Given the description of an element on the screen output the (x, y) to click on. 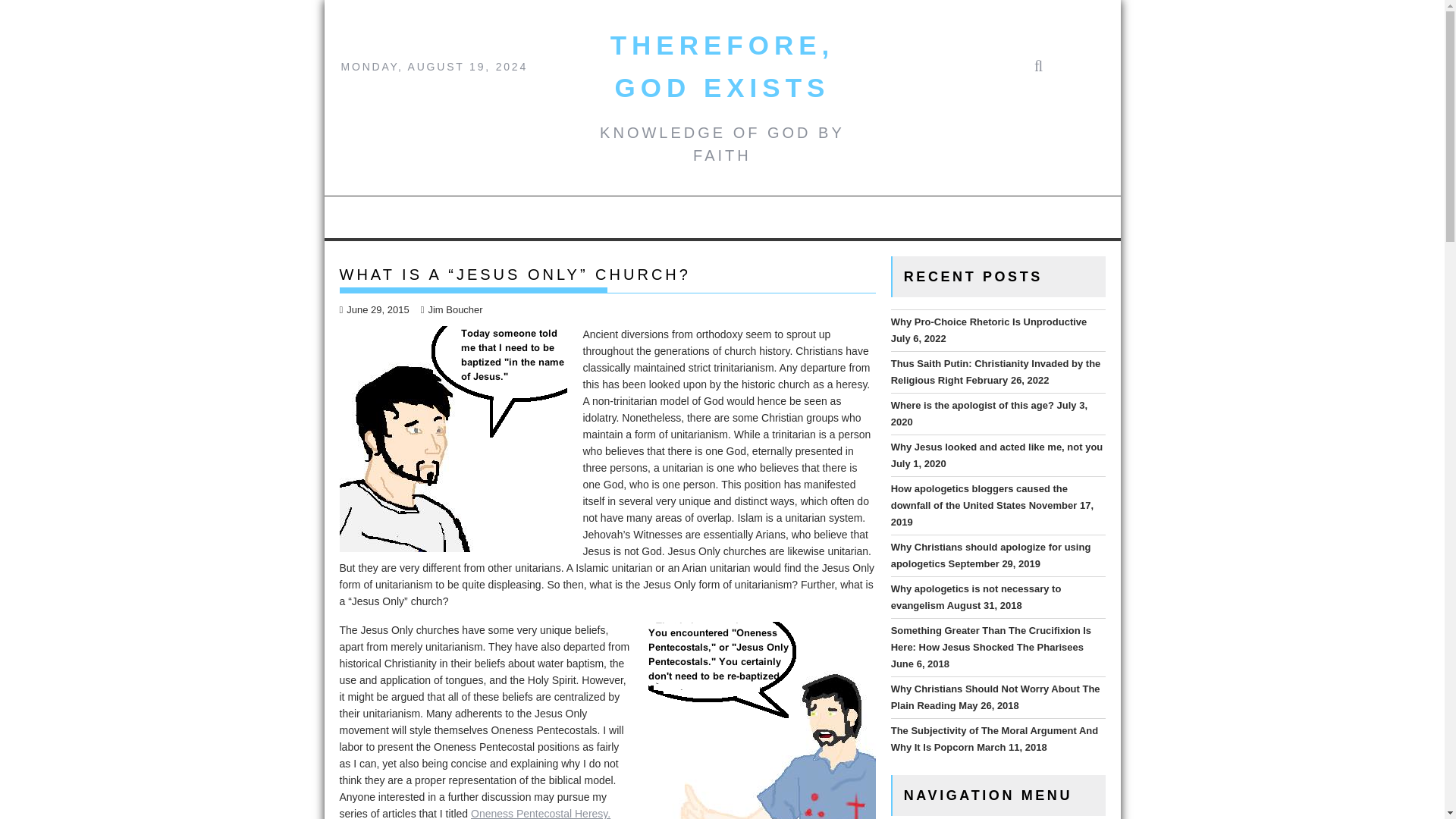
THEREFORE, GOD EXISTS (722, 66)
Why Christians Should Not Worry About The Plain Reading (995, 697)
Therefore, God Exists (722, 66)
Why Pro-Choice Rhetoric Is Unproductive (989, 321)
Where is the apologist of this age? (972, 405)
Jim Boucher (451, 309)
Why Christians should apologize for using apologetics (990, 555)
Oneness Pentecostal Heresy. (540, 813)
Jim Boucher (451, 309)
